Given the description of an element on the screen output the (x, y) to click on. 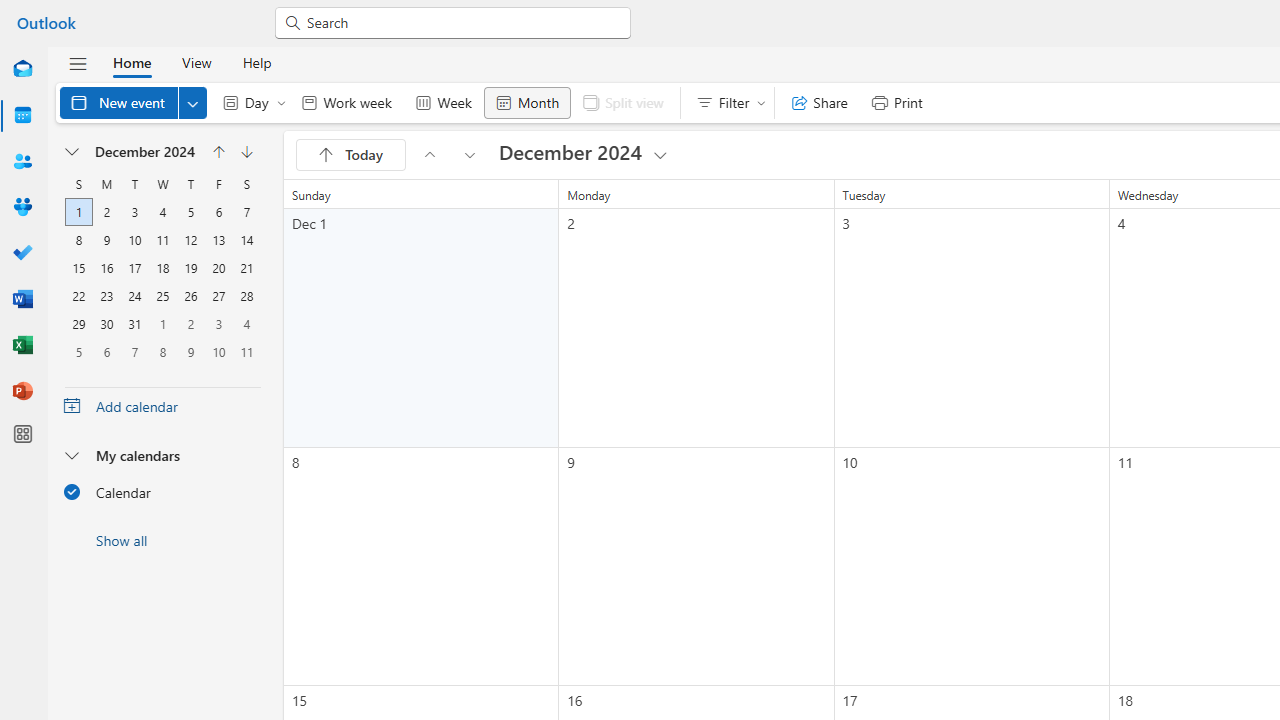
17, December, 2024 (134, 268)
6, January, 2025 (106, 351)
Home (132, 61)
Month (527, 102)
7, December, 2024 (246, 212)
22, December, 2024 (78, 295)
10, December, 2024 (134, 240)
Go to previous month November (218, 152)
11, January, 2025 (246, 351)
24, December, 2024 (134, 295)
Saturday (246, 183)
Calendar (22, 115)
Go to previous month November 2024 (429, 154)
People (22, 161)
31, December, 2024 (134, 323)
